Given the description of an element on the screen output the (x, y) to click on. 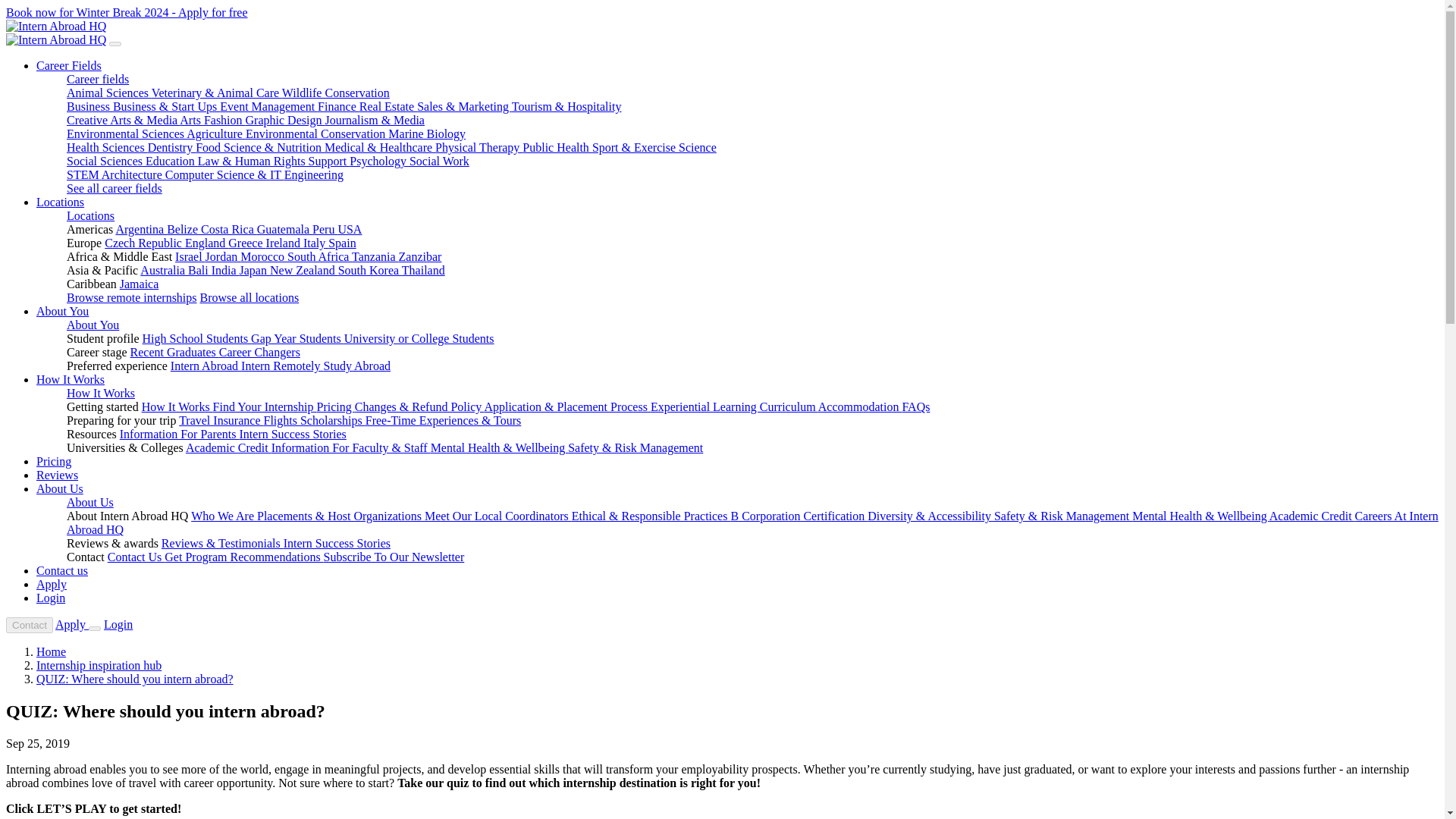
Book now for Winter Break 2024 - Apply for free (126, 11)
Marine Biology (426, 133)
Go to MyIAHQ (117, 624)
Environmental Conservation (317, 133)
Business (89, 106)
Architecture (133, 174)
Education (171, 160)
STEM (83, 174)
Fashion (224, 119)
Animal Sciences (108, 92)
